Given the description of an element on the screen output the (x, y) to click on. 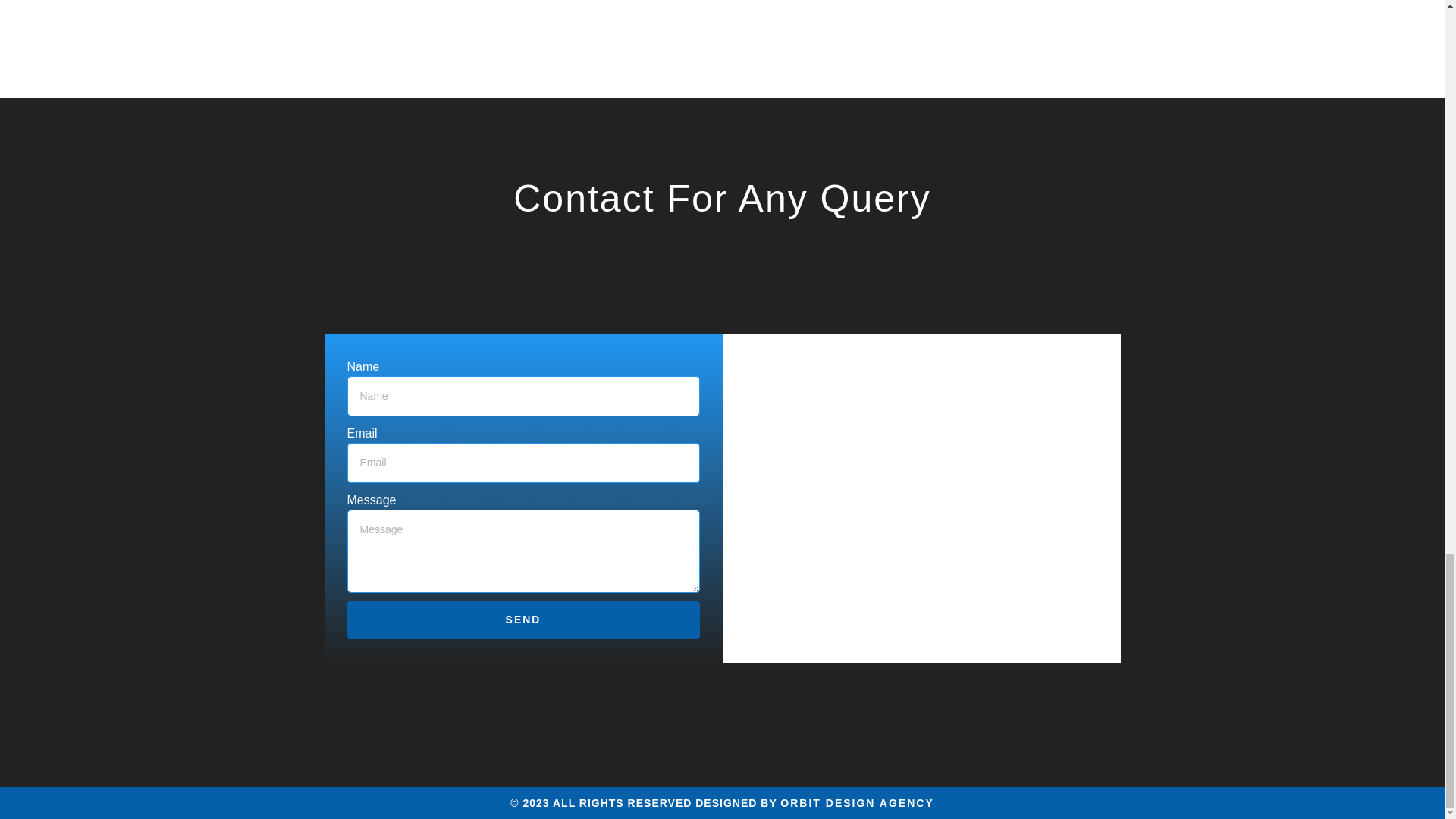
ORBIT DESIGN AGENCY (856, 802)
SEND (523, 619)
Richmond, VA (920, 498)
